Given the description of an element on the screen output the (x, y) to click on. 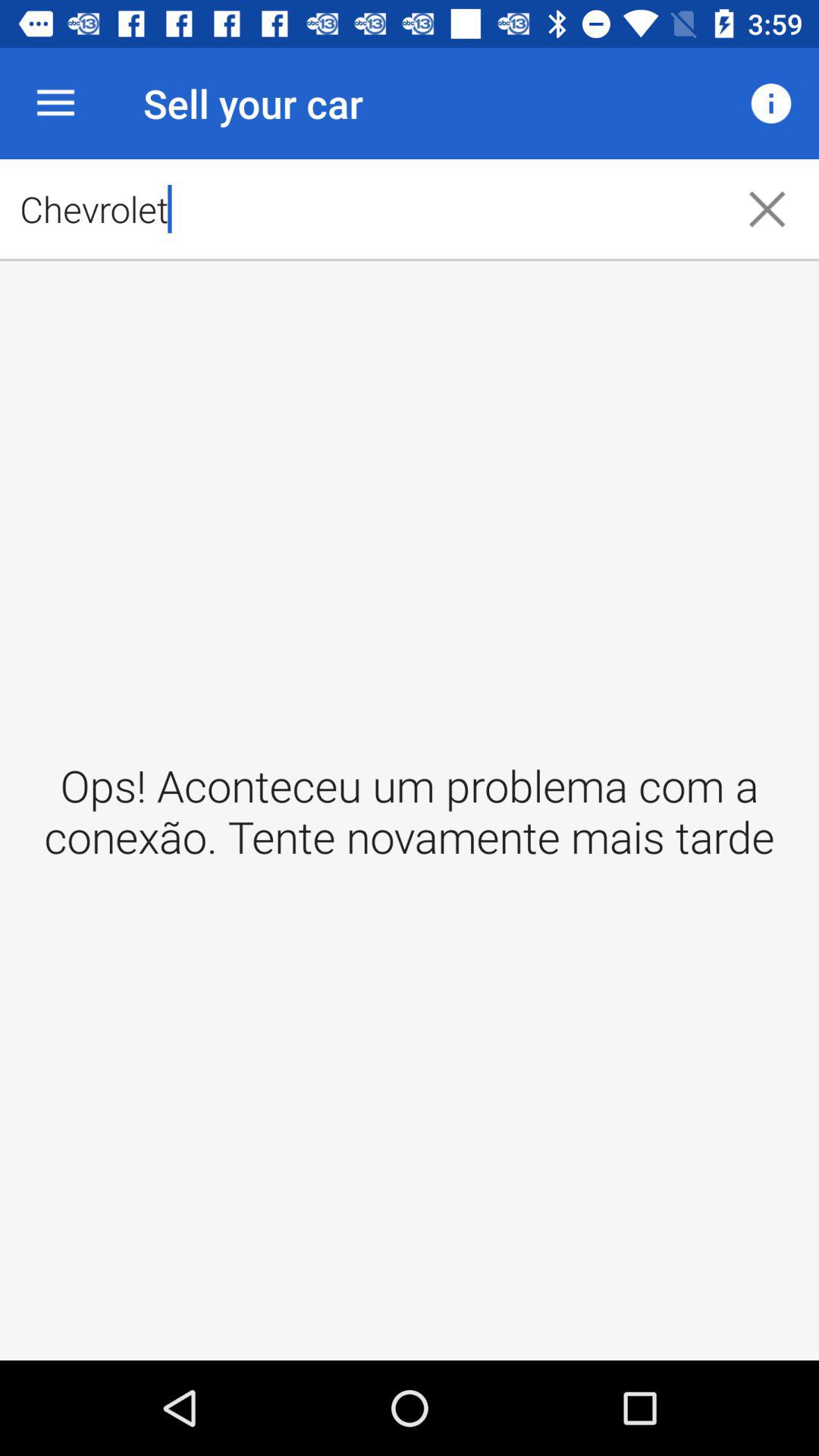
open chevrolet item (357, 208)
